Given the description of an element on the screen output the (x, y) to click on. 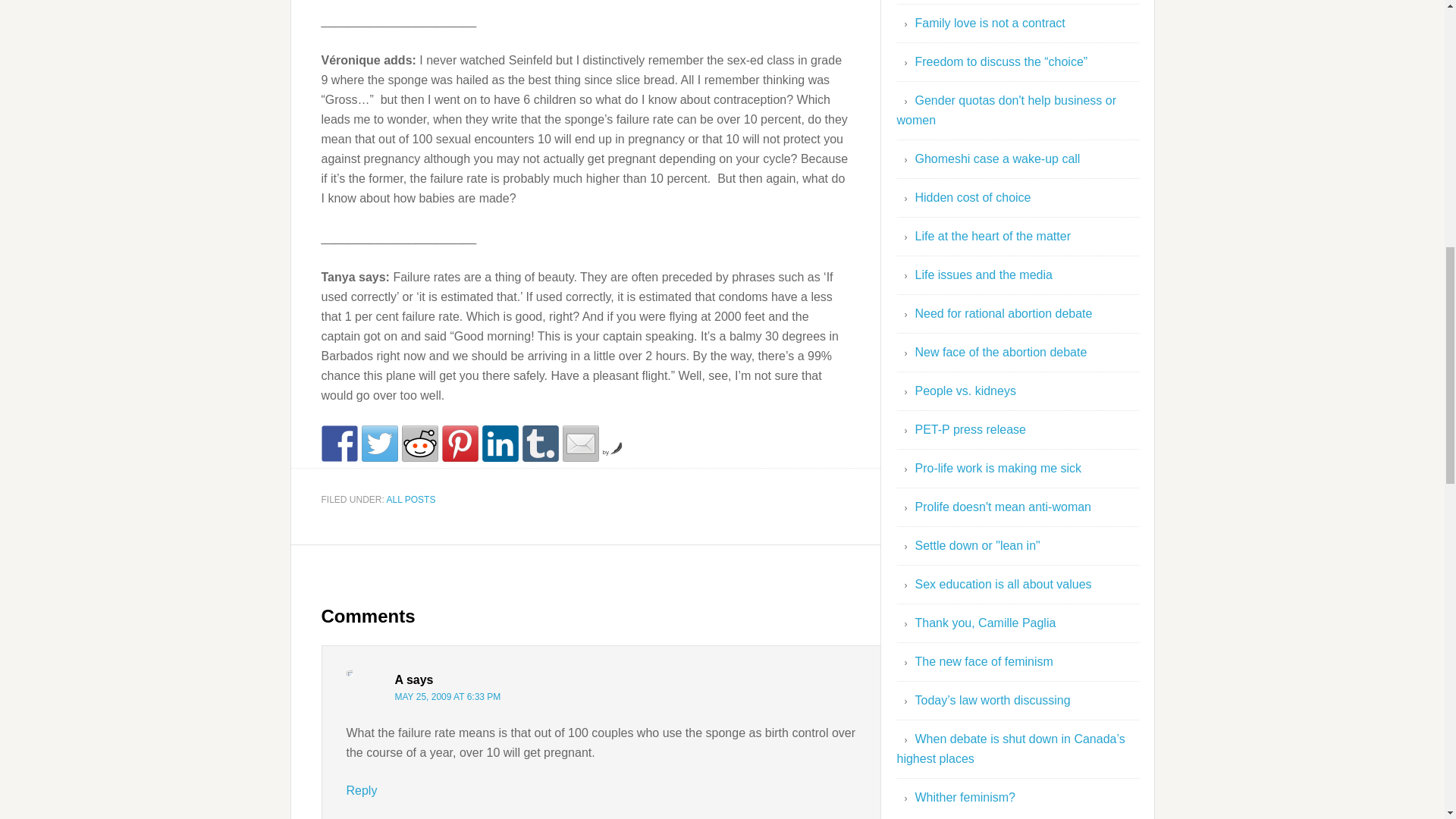
ALL POSTS (411, 499)
Share on tumblr (539, 443)
Share on Twitter (379, 443)
Reply (361, 789)
Family love is not a contract (989, 22)
Life at the heart of the matter (992, 236)
Gender quotas don't help business or women (1005, 110)
Share on Facebook (339, 443)
WordPress Social Media Feather (612, 451)
Ghomeshi case a wake-up call (997, 158)
MAY 25, 2009 AT 6:33 PM (447, 696)
Share by email (580, 443)
Share on Linkedin (499, 443)
Hidden cost of choice (972, 196)
Share on Reddit (419, 443)
